Given the description of an element on the screen output the (x, y) to click on. 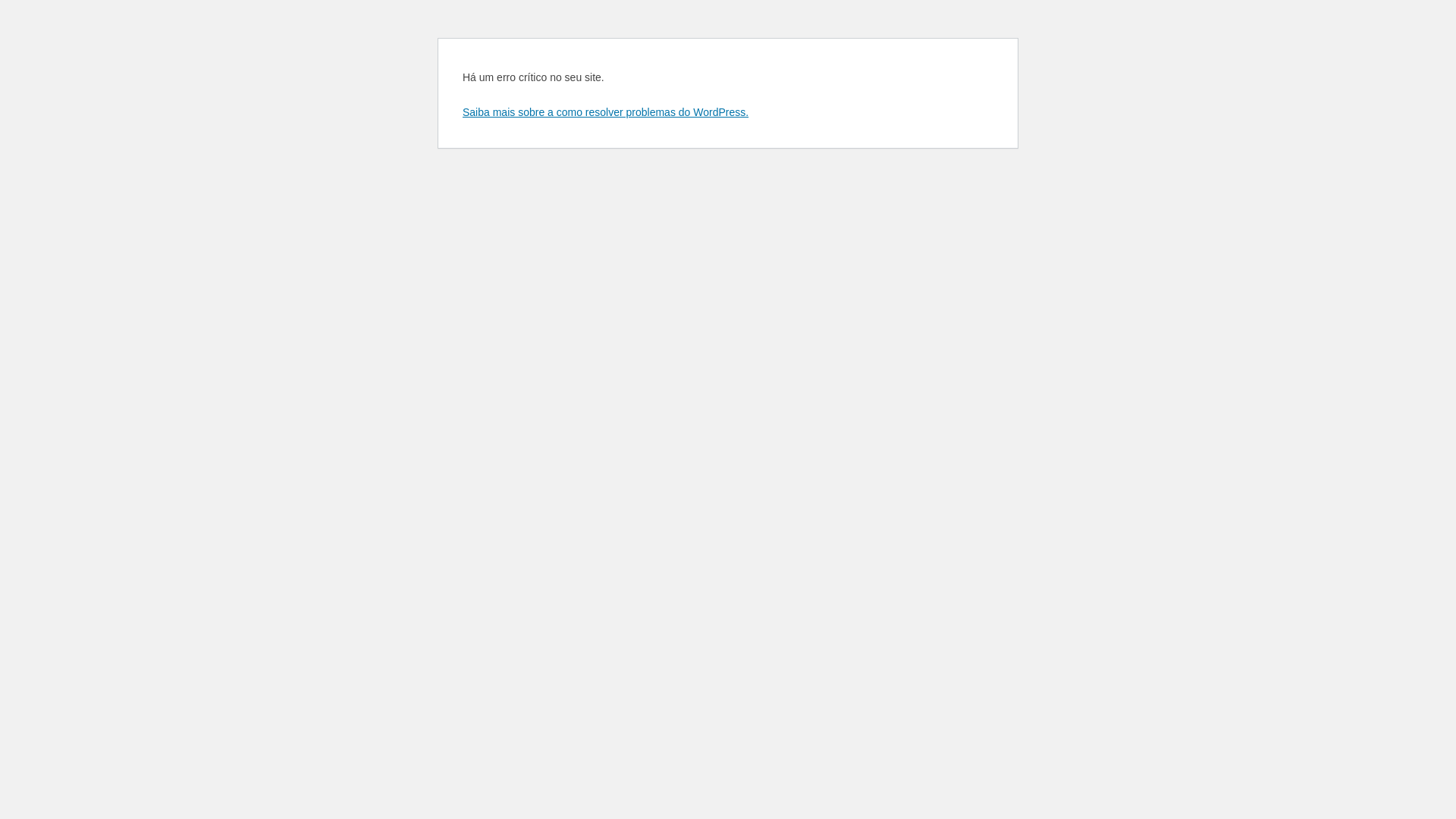
Saiba mais sobre a como resolver problemas do WordPress. Element type: text (605, 112)
